Given the description of an element on the screen output the (x, y) to click on. 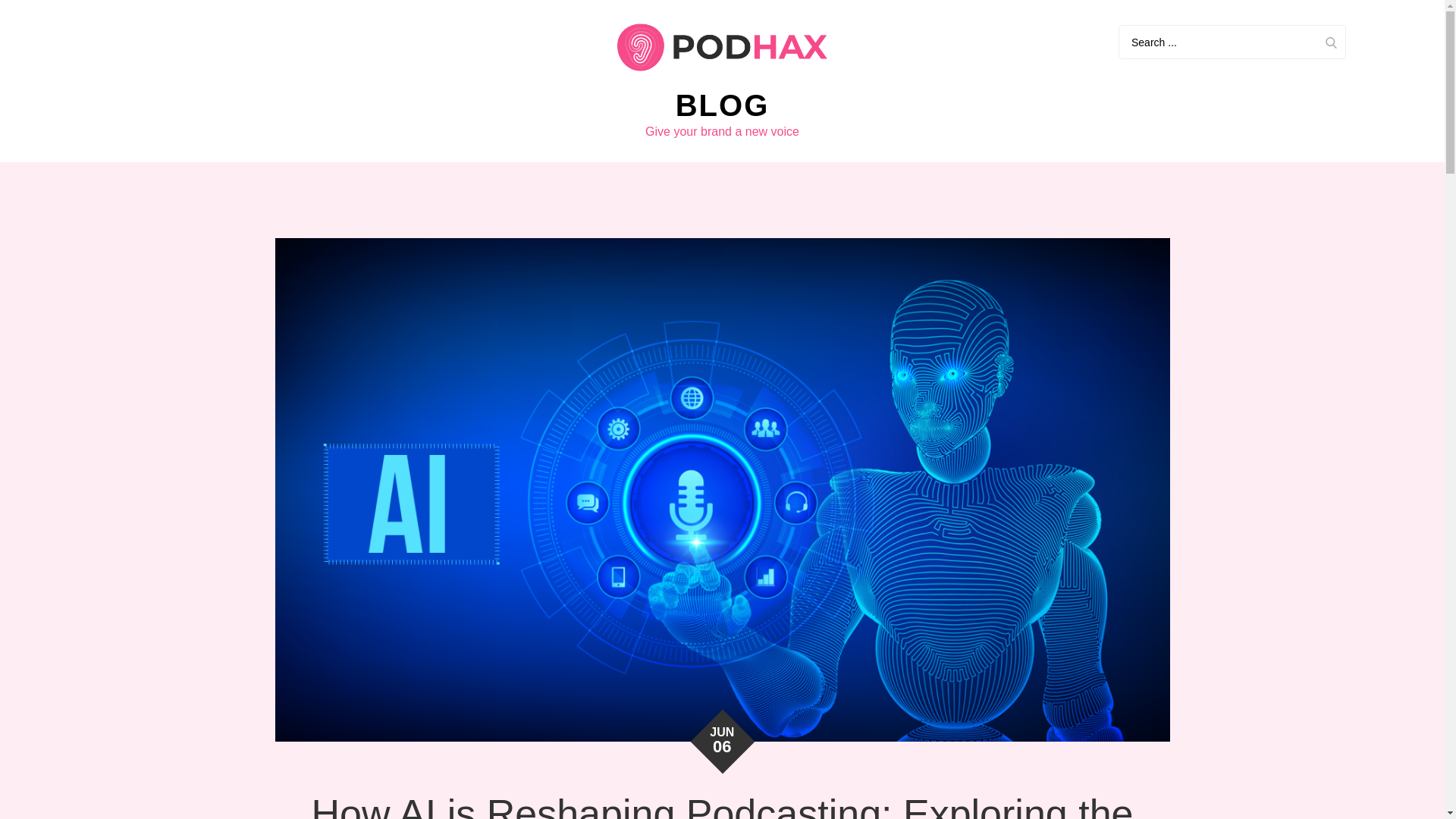
Search (1330, 41)
Search for: (1231, 41)
BLOG (722, 105)
